Given the description of an element on the screen output the (x, y) to click on. 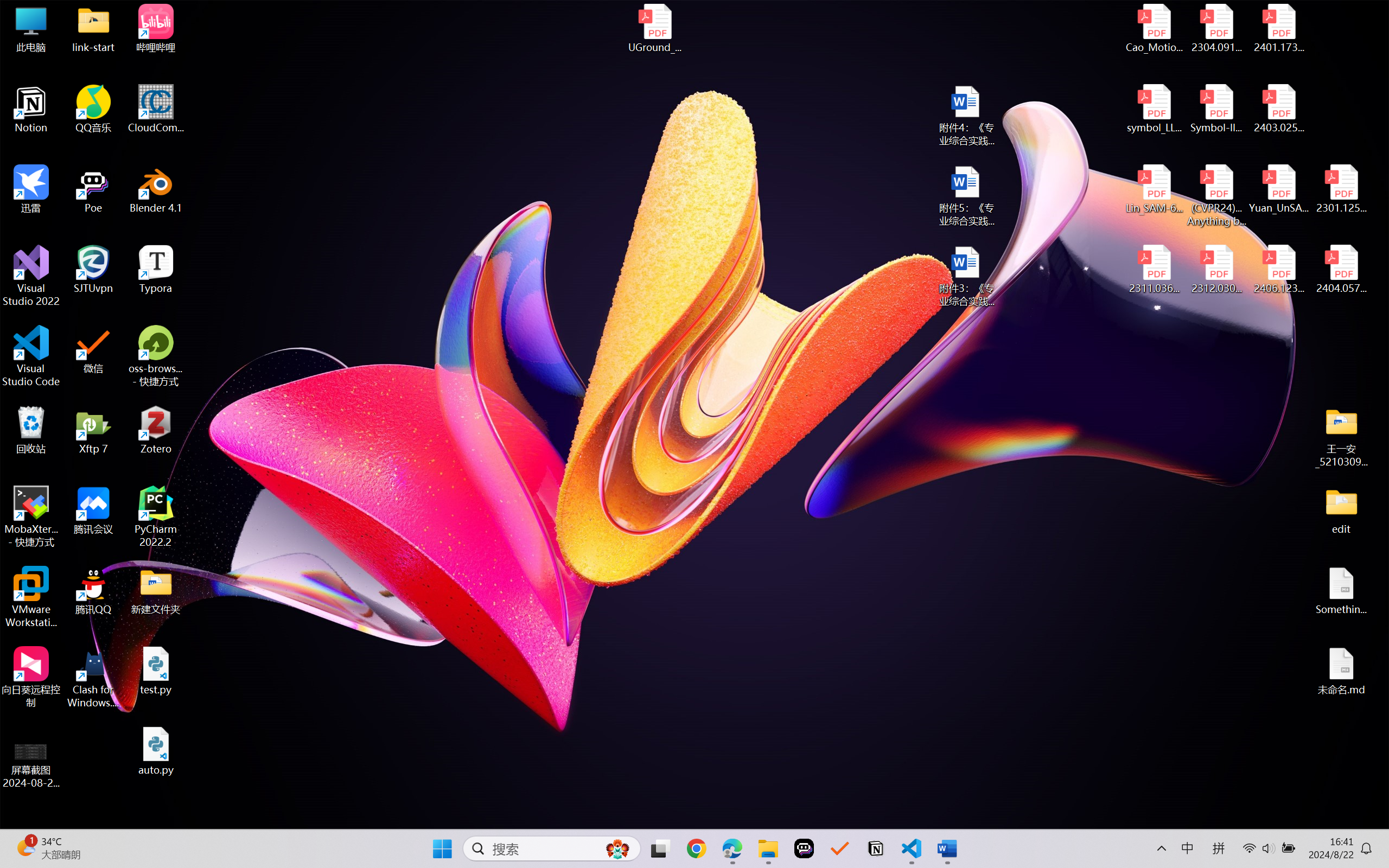
VMware Workstation Pro (31, 597)
Notion (31, 109)
edit (1340, 510)
Poe (93, 189)
Google Chrome (696, 848)
